Given the description of an element on the screen output the (x, y) to click on. 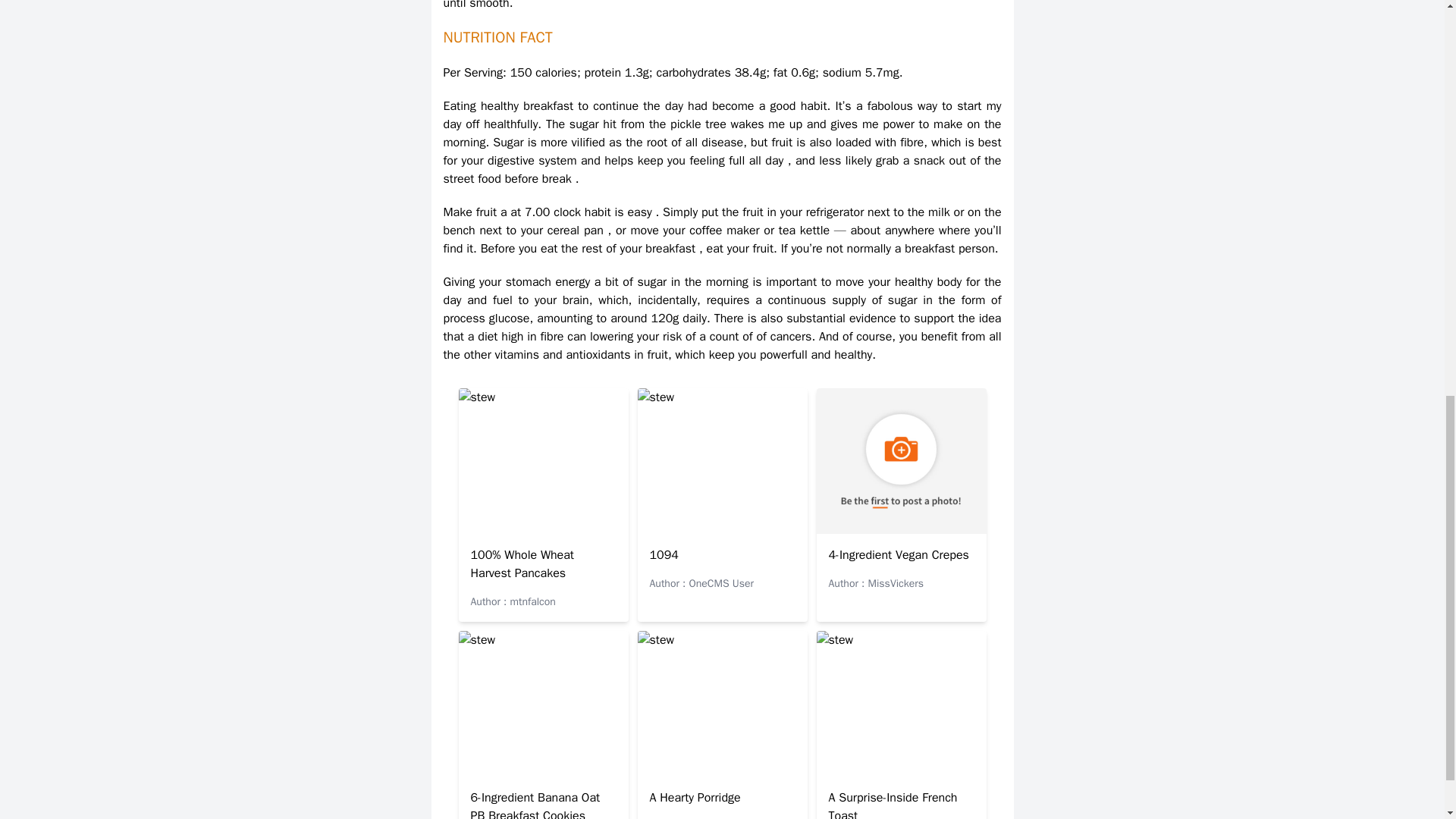
1094 (663, 554)
A Surprise-Inside French Toast (892, 804)
4-Ingredient Vegan Crepes (898, 554)
A Hearty Porridge (694, 797)
6-Ingredient Banana Oat PB Breakfast Cookies (534, 804)
